Given the description of an element on the screen output the (x, y) to click on. 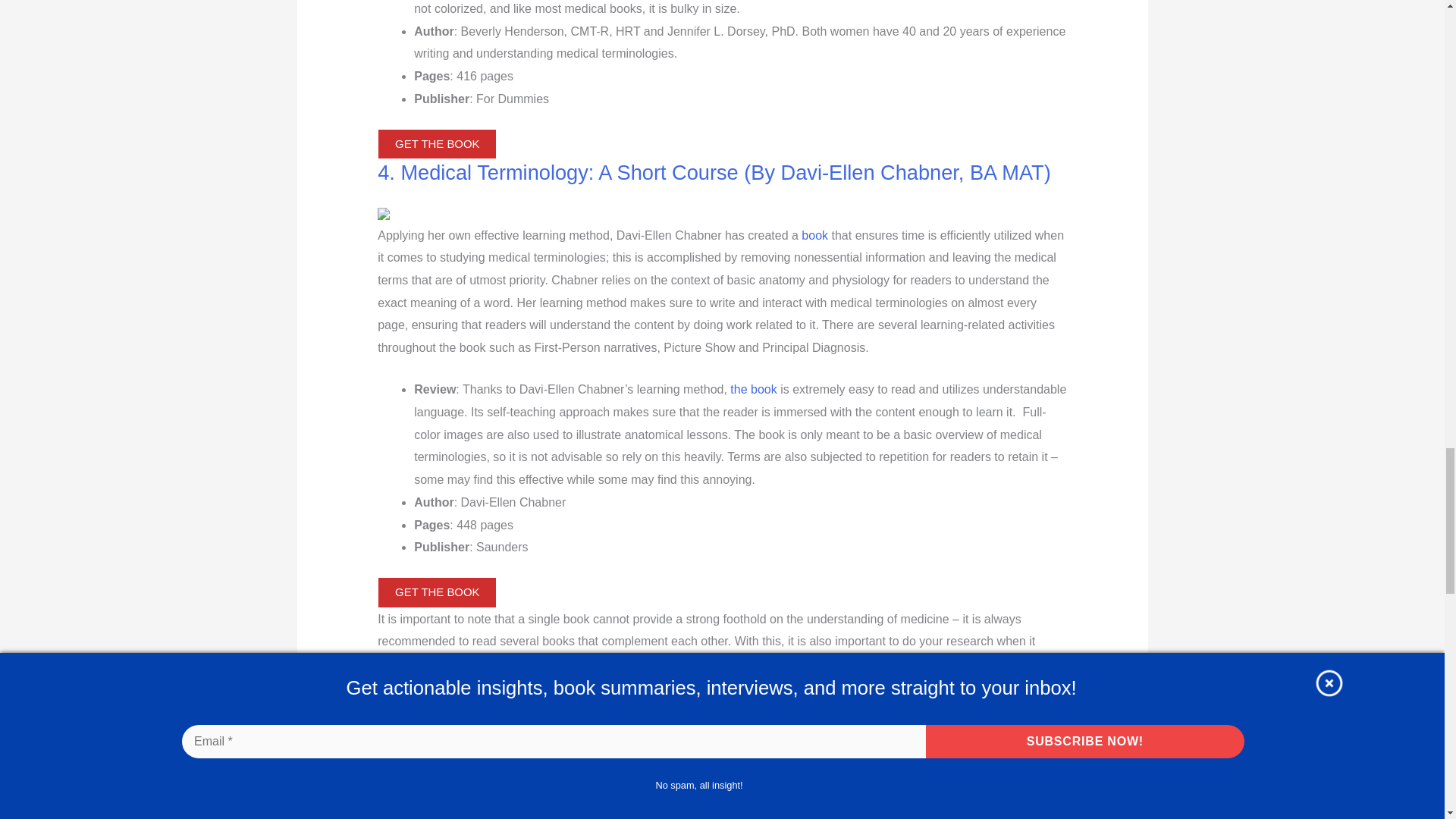
GET THE BOOK (436, 143)
